Given the description of an element on the screen output the (x, y) to click on. 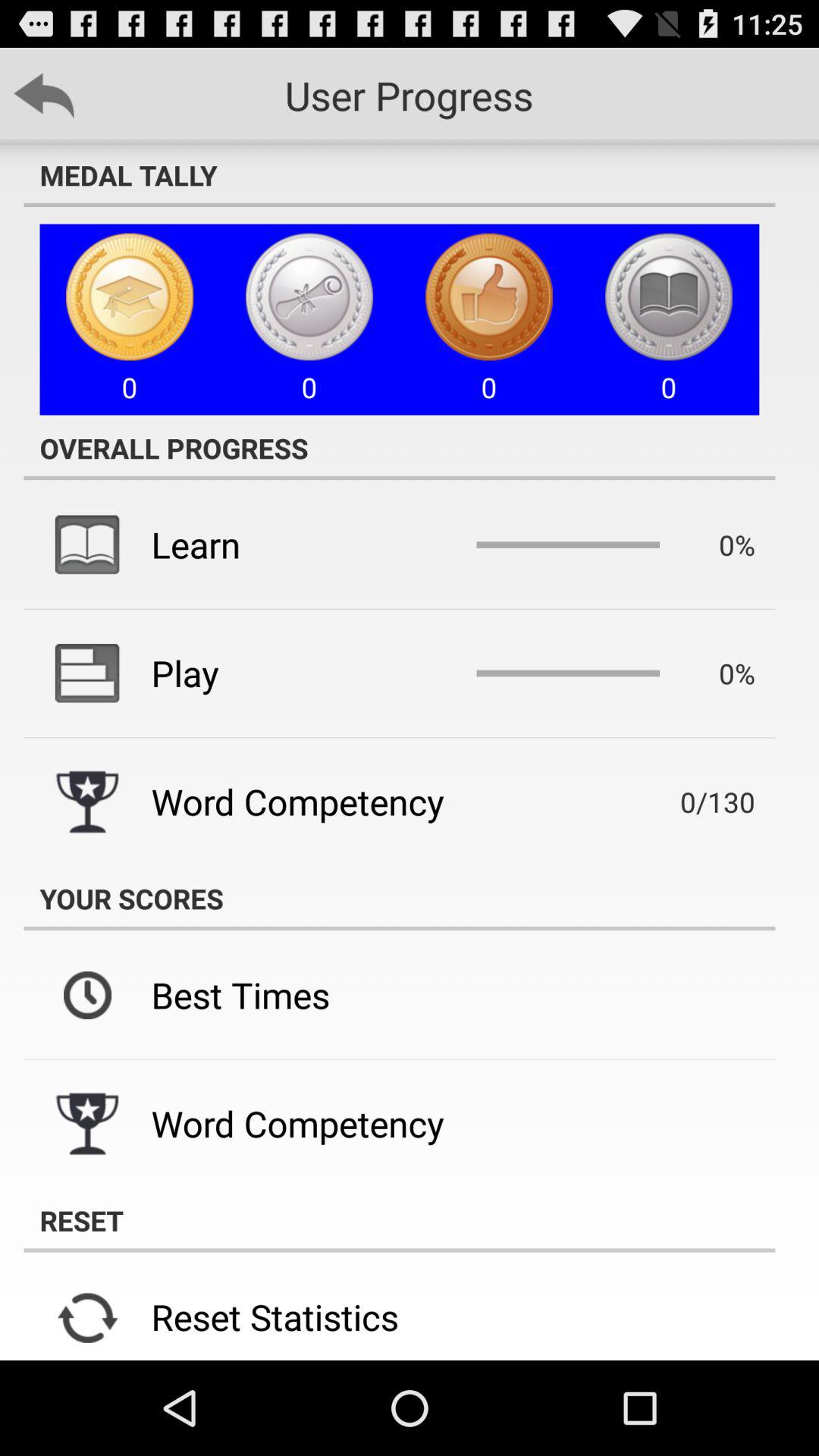
open learn icon (195, 544)
